Given the description of an element on the screen output the (x, y) to click on. 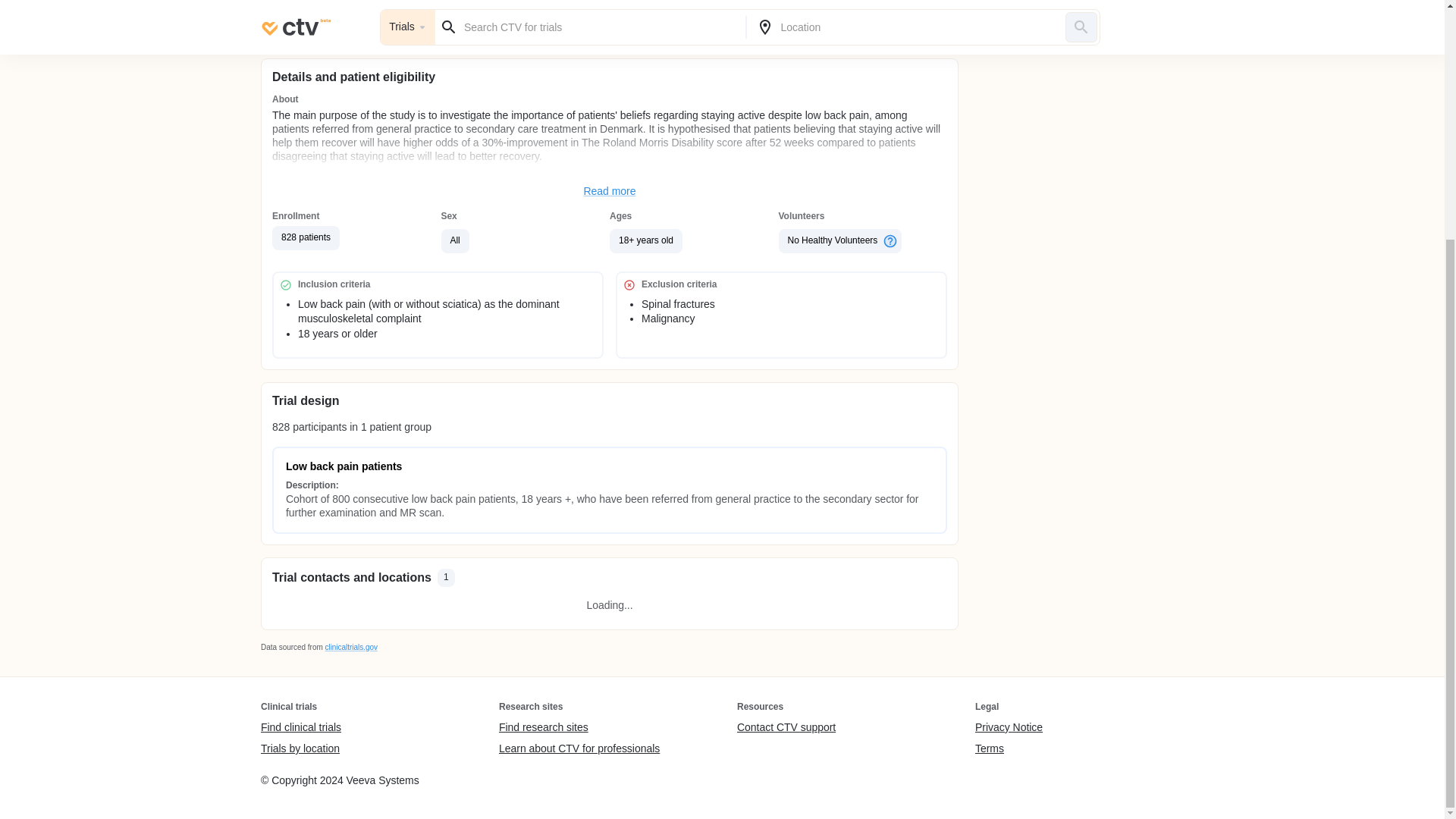
Contact CTV support (785, 727)
Terms (1008, 748)
Privacy Notice (1008, 727)
Find clinical trials (300, 727)
Trials by location (300, 748)
clinicaltrials.gov (350, 646)
Read more (609, 192)
Take notes (438, 19)
View location (780, 19)
Find research sites (579, 727)
Learn about CTV for professionals (579, 748)
